Given the description of an element on the screen output the (x, y) to click on. 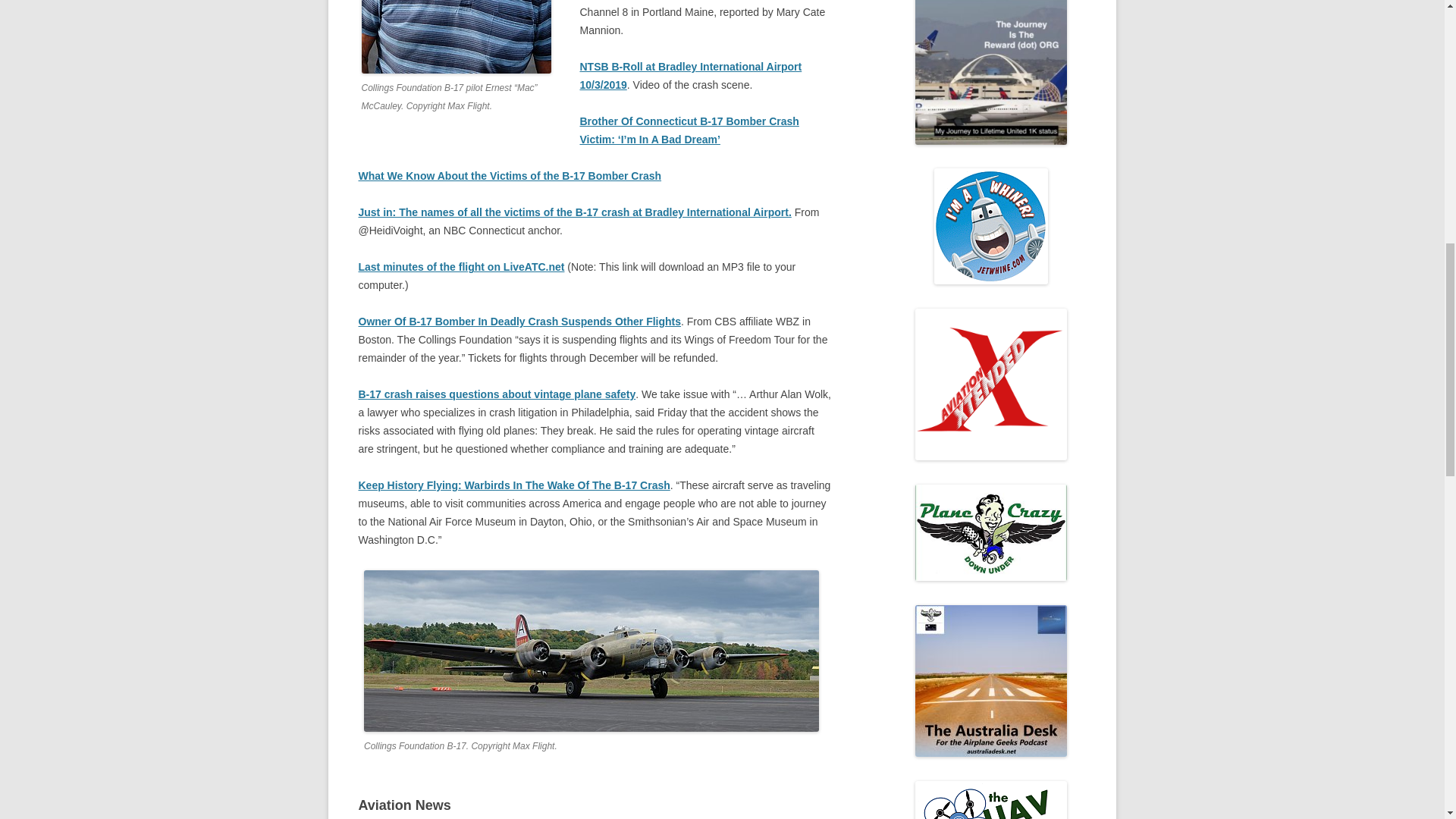
What We Know About the Victims of the B-17 Bomber Crash (509, 175)
Last minutes of the flight on LiveATC.net (461, 266)
B-17 crash raises questions about vintage plane safety (496, 394)
Keep History Flying: Warbirds In The Wake Of The B-17 Crash (513, 485)
Owner Of B-17 Bomber In Deadly Crash Suspends Other Flights (519, 321)
